Given the description of an element on the screen output the (x, y) to click on. 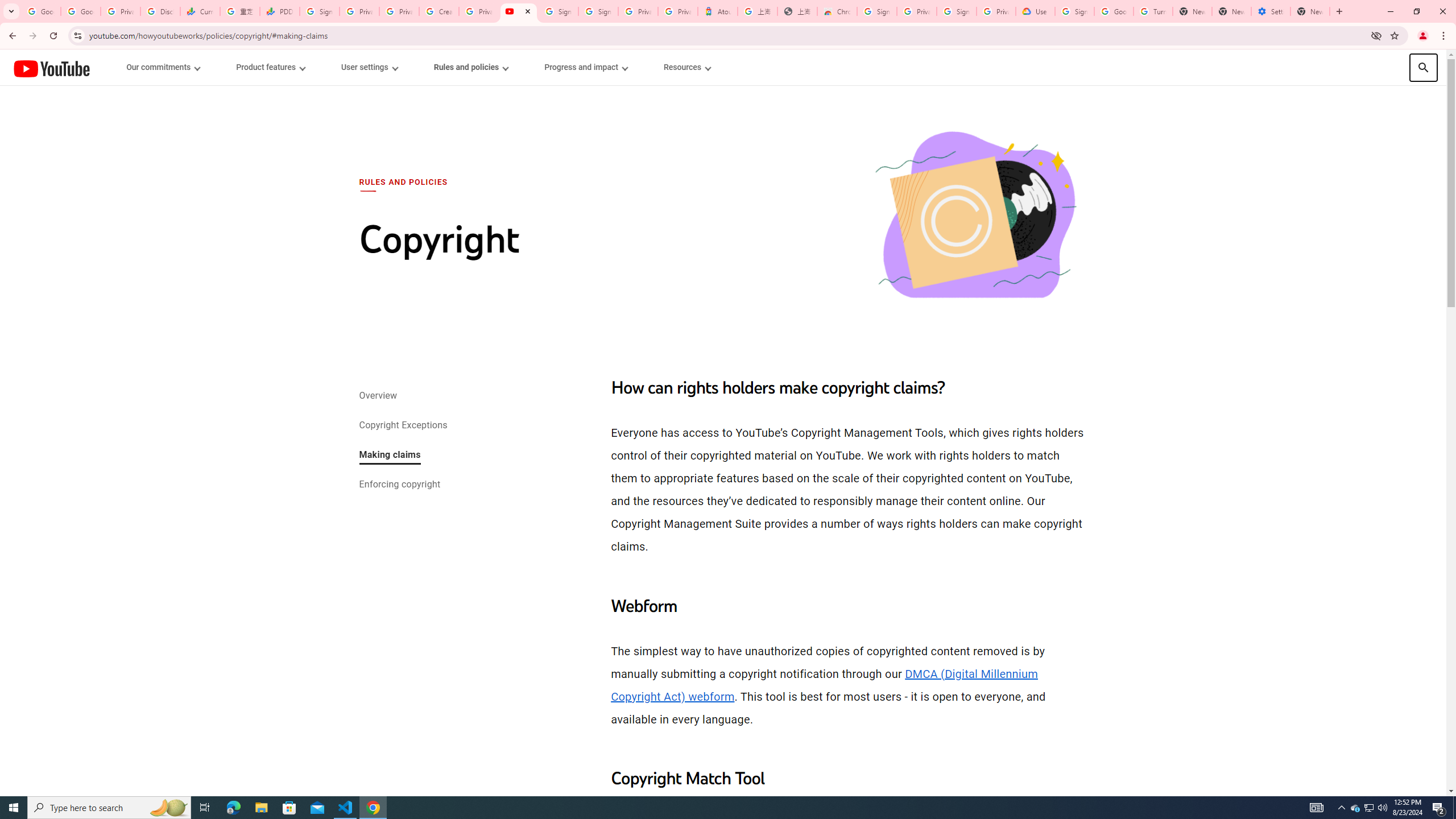
JUMP TO CONTENT (118, 67)
Sign in - Google Accounts (876, 11)
YouTube Copyright Rules & Policies - How YouTube Works (518, 11)
Rules and policies menupopup (470, 67)
Play (723, 469)
Google Workspace Admin Community (40, 11)
